Given the description of an element on the screen output the (x, y) to click on. 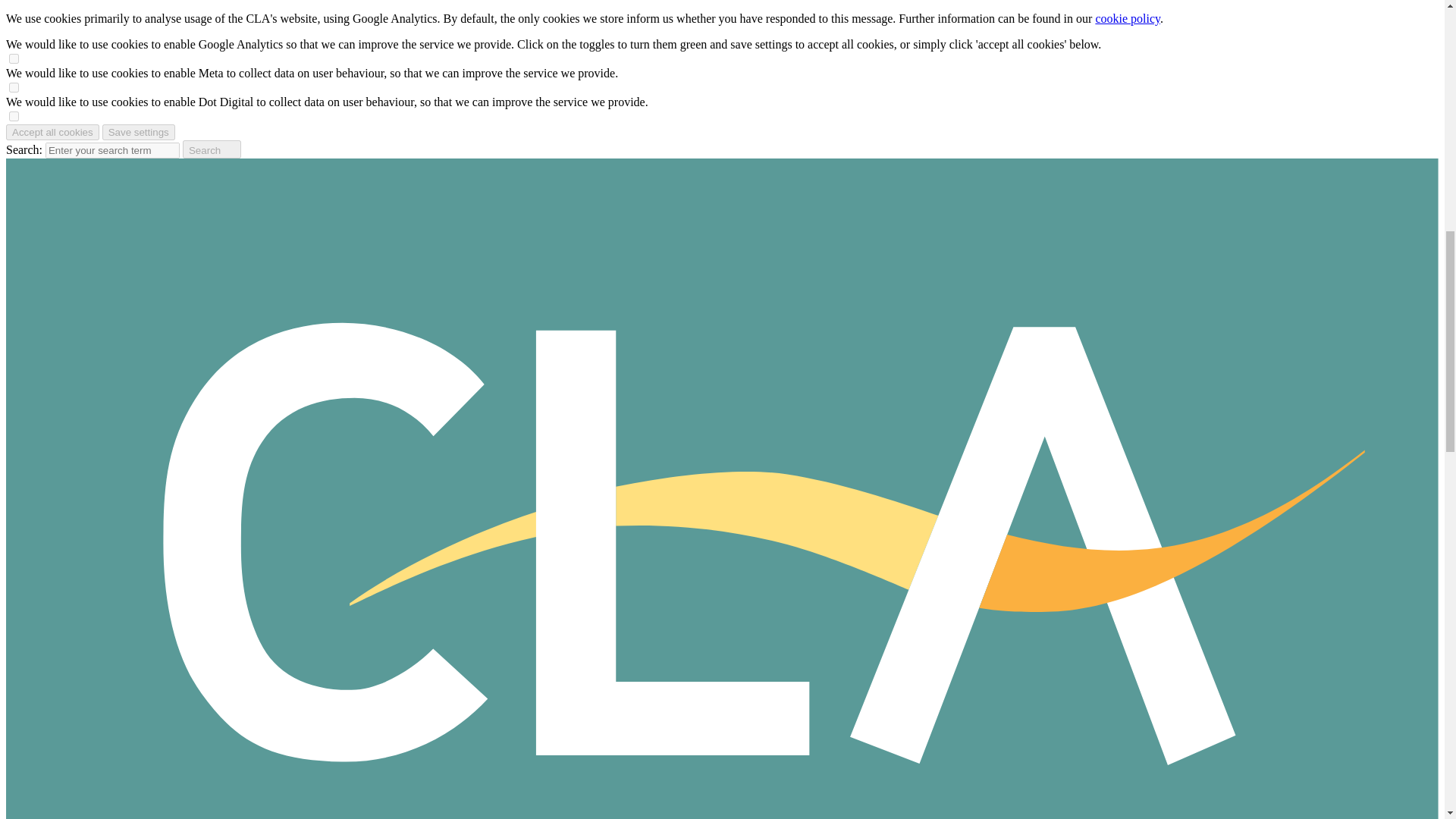
cookie policy (1127, 18)
Accept all cookies (52, 132)
on (13, 116)
Save settings (137, 132)
on (13, 87)
on (13, 58)
Search (212, 149)
